Given the description of an element on the screen output the (x, y) to click on. 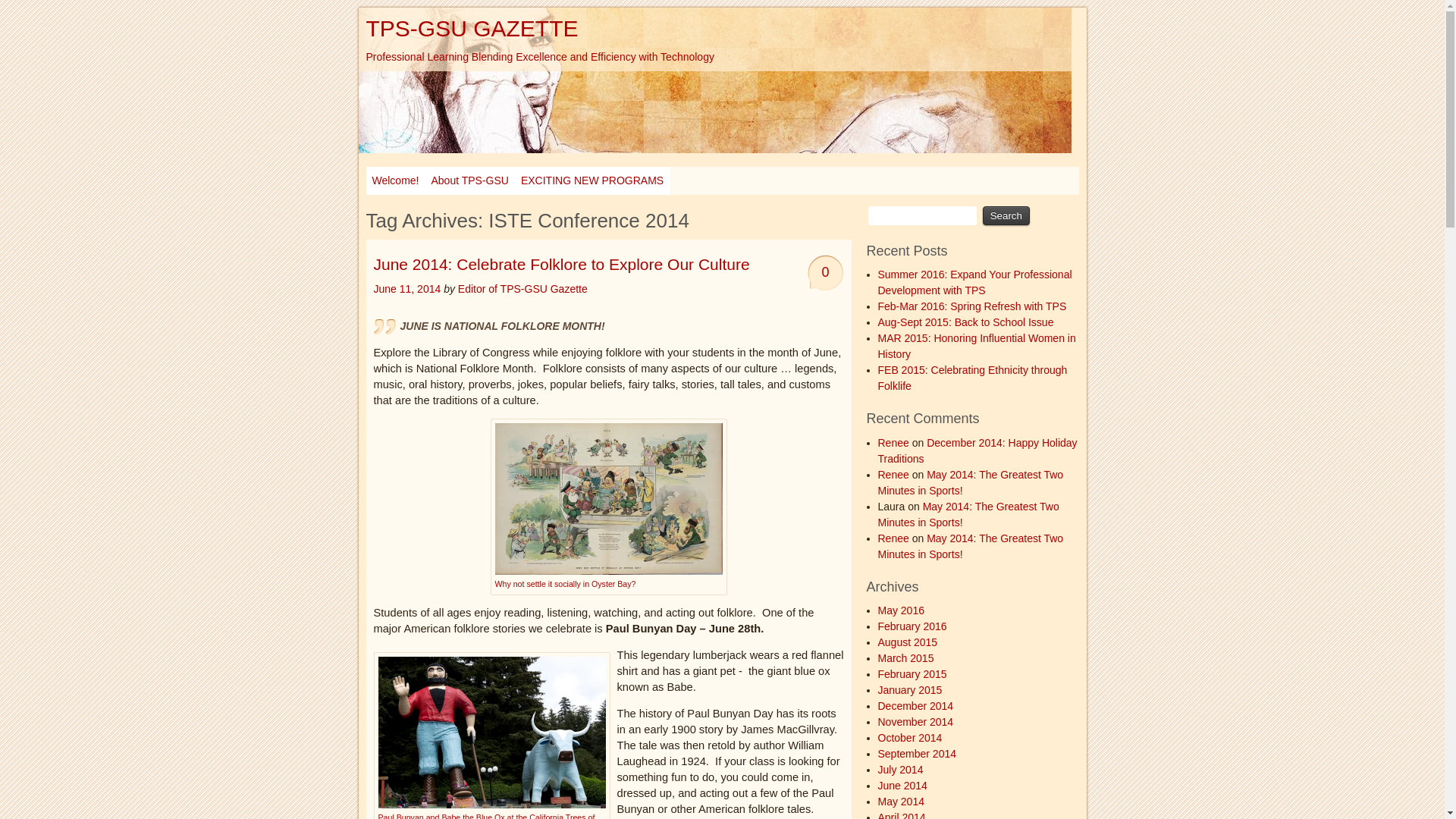
Aug-Sept 2015: Back to School Issue (965, 322)
Search (1005, 215)
EXCITING NEW PROGRAMS (592, 180)
View all posts by Editor of TPS-GSU Gazette (523, 288)
Welcome! (395, 180)
TPS-GSU GAZETTE (471, 27)
June 2014: Celebrate Folklore to Explore Our Culture (560, 263)
